Given the description of an element on the screen output the (x, y) to click on. 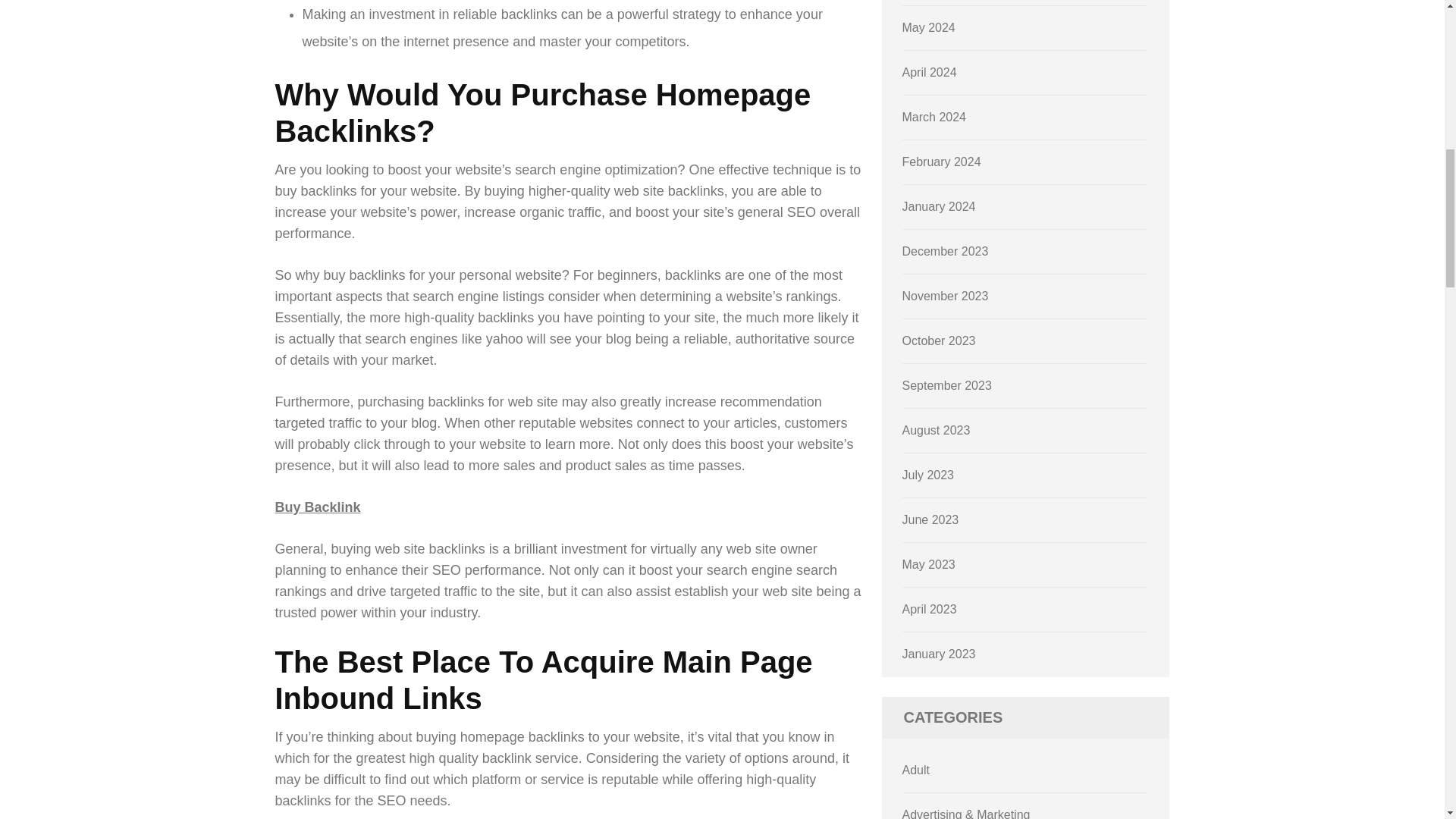
May 2023 (928, 563)
December 2023 (945, 250)
April 2023 (929, 608)
August 2023 (936, 430)
January 2024 (938, 205)
Buy Backlink (317, 507)
April 2024 (929, 72)
September 2023 (946, 385)
October 2023 (938, 340)
July 2023 (928, 474)
